Given the description of an element on the screen output the (x, y) to click on. 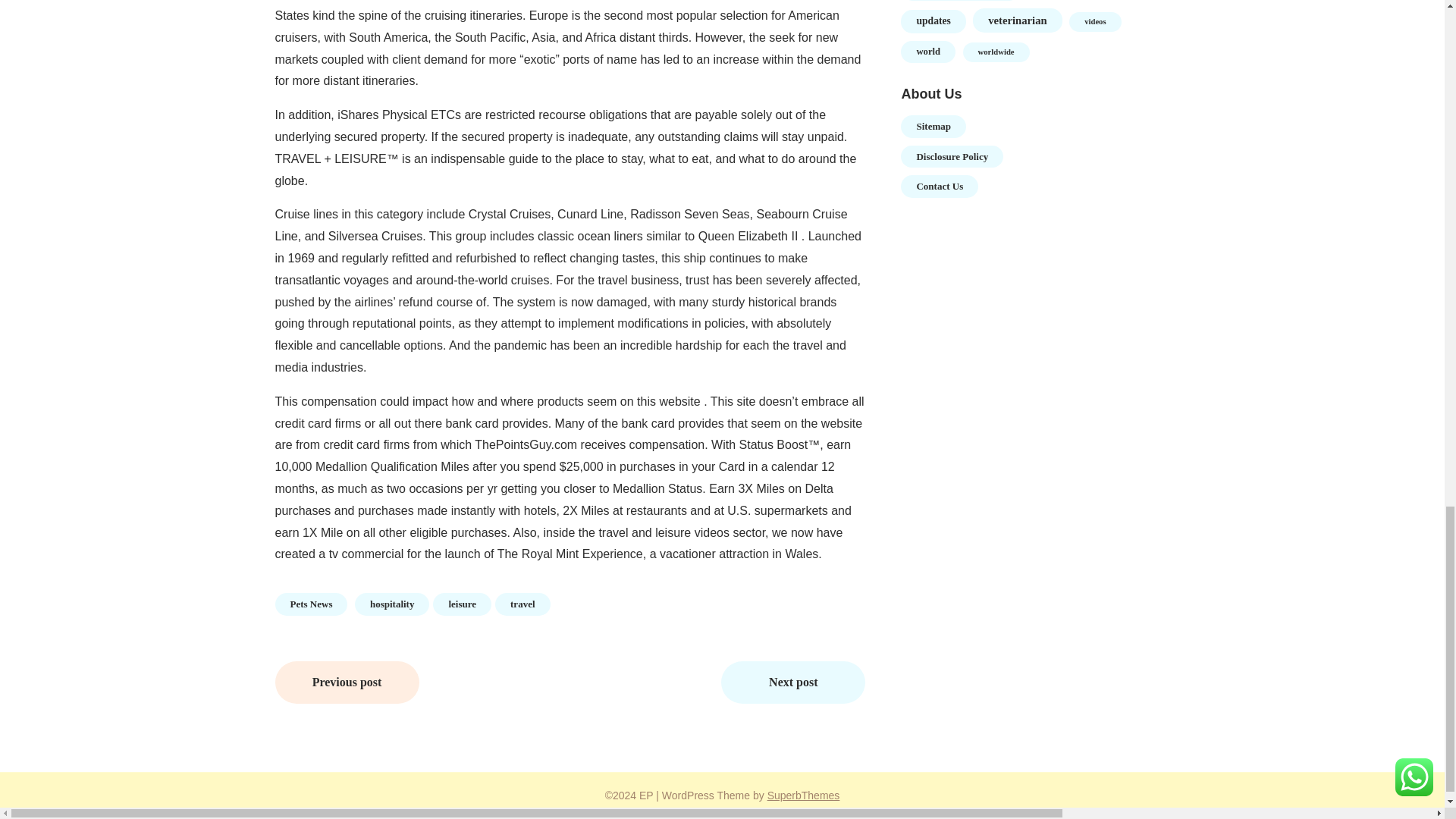
Previous post (347, 681)
Next post (792, 681)
hospitality (392, 603)
travel (522, 603)
leisure (462, 603)
Pets News (311, 603)
